Given the description of an element on the screen output the (x, y) to click on. 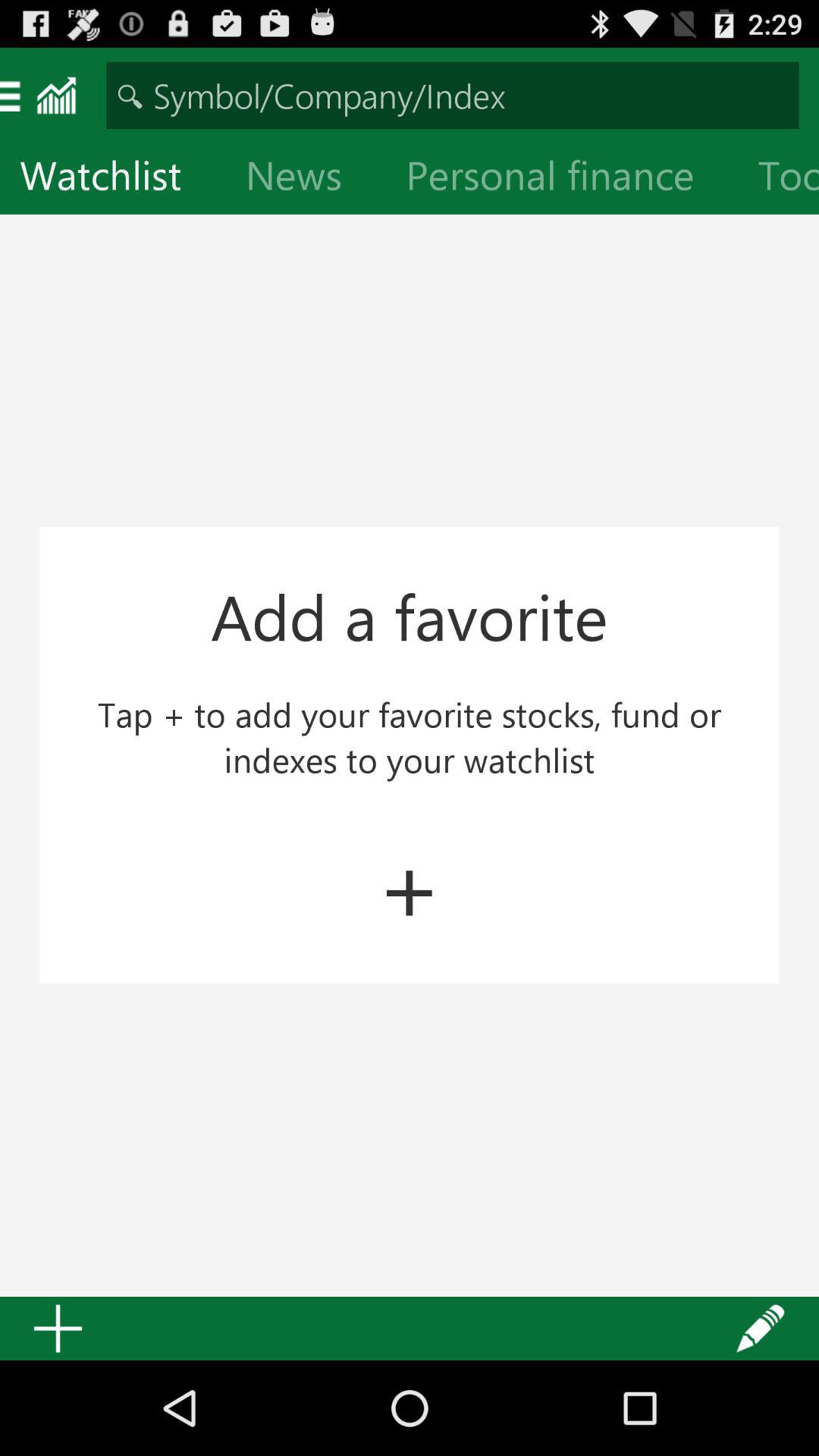
scroll to the news (305, 178)
